Given the description of an element on the screen output the (x, y) to click on. 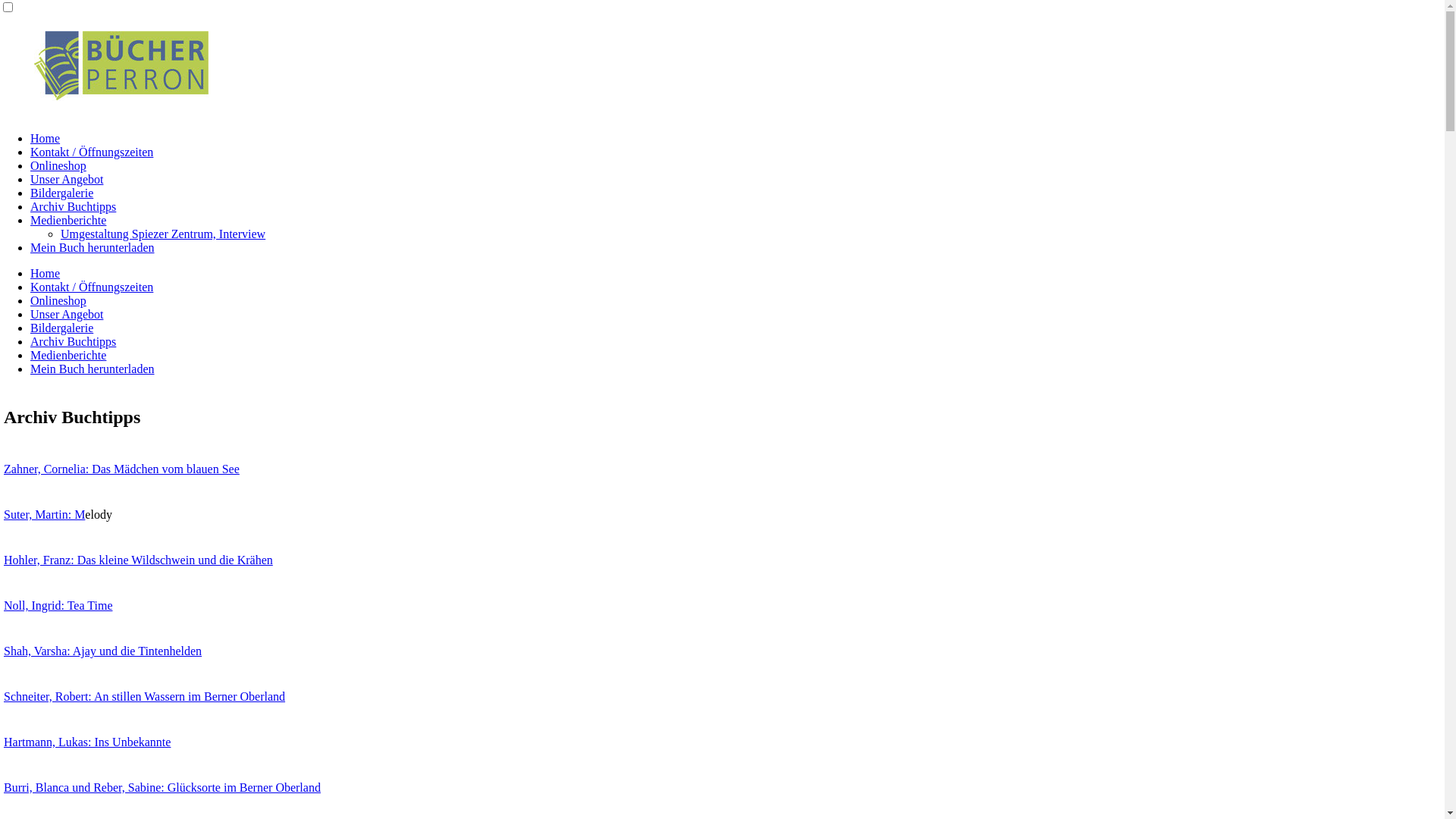
Bildergalerie Element type: text (61, 192)
Unser Angebot Element type: text (66, 178)
Noll, Ingrid: Tea Time Element type: text (57, 605)
Onlineshop Element type: text (58, 165)
Umgestaltung Spiezer Zentrum, Interview Element type: text (162, 233)
Bildergalerie Element type: text (61, 327)
Suter, Martin: M Element type: text (43, 514)
Home Element type: text (44, 137)
Mein Buch herunterladen Element type: text (92, 368)
Home Element type: text (44, 272)
Schneiter, Robert: An stillen Wassern im Berner Oberland Element type: text (144, 696)
Hartmann, Lukas: Ins Unbekannte Element type: text (86, 741)
Medienberichte Element type: text (68, 219)
Medienberichte Element type: text (68, 354)
Shah, Varsha: Ajay und die Tintenhelden Element type: text (102, 650)
Archiv Buchtipps Element type: text (73, 206)
Unser Angebot Element type: text (66, 313)
Mein Buch herunterladen Element type: text (92, 247)
Archiv Buchtipps Element type: text (73, 341)
Onlineshop Element type: text (58, 300)
